Given the description of an element on the screen output the (x, y) to click on. 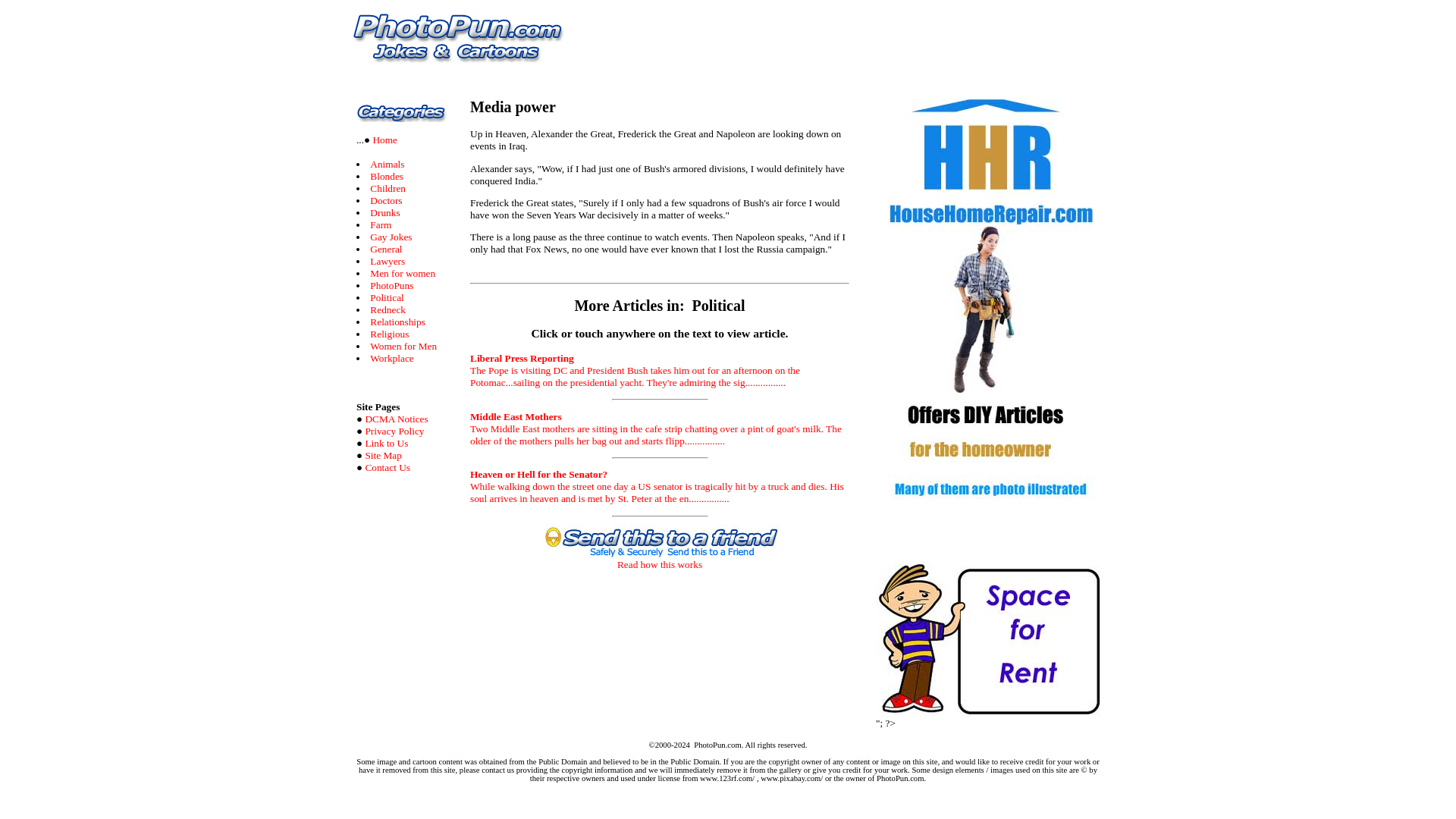
Home (383, 139)
Redneck (387, 309)
Women for Men (402, 346)
Children (387, 188)
Blondes (386, 175)
Lawyers (386, 260)
Contact Us (387, 467)
Men for women (402, 273)
